Given the description of an element on the screen output the (x, y) to click on. 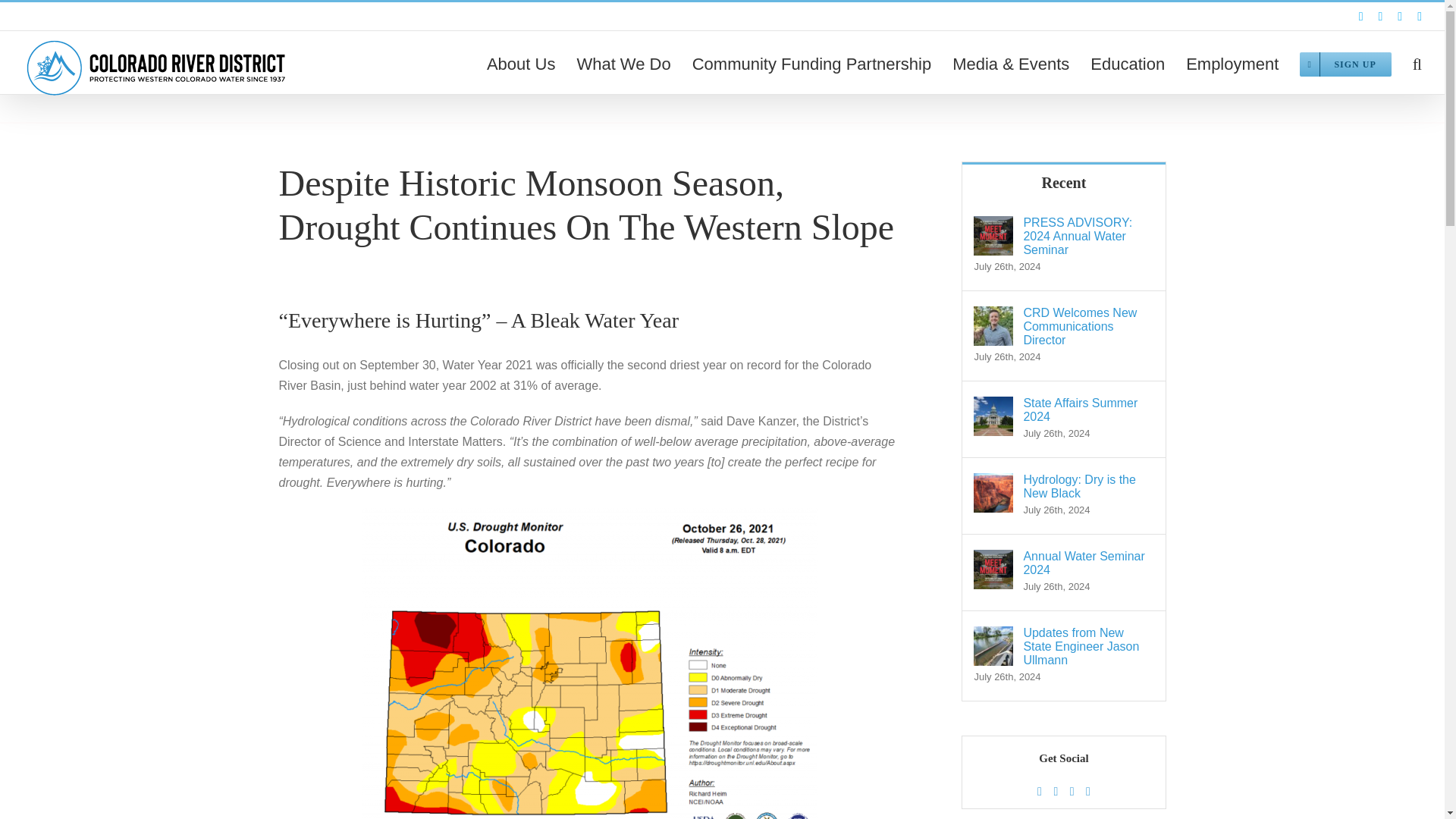
Facebook (1360, 16)
Instagram (1055, 791)
Instagram (1379, 16)
Instagram (1379, 16)
What We Do (622, 63)
YouTube (1419, 16)
YouTube (1088, 791)
Twitter (1072, 791)
Twitter (1399, 16)
Facebook (1360, 16)
Community Funding Partnership (812, 63)
About Us (521, 63)
Twitter (1399, 16)
YouTube (1419, 16)
Facebook (1039, 791)
